Given the description of an element on the screen output the (x, y) to click on. 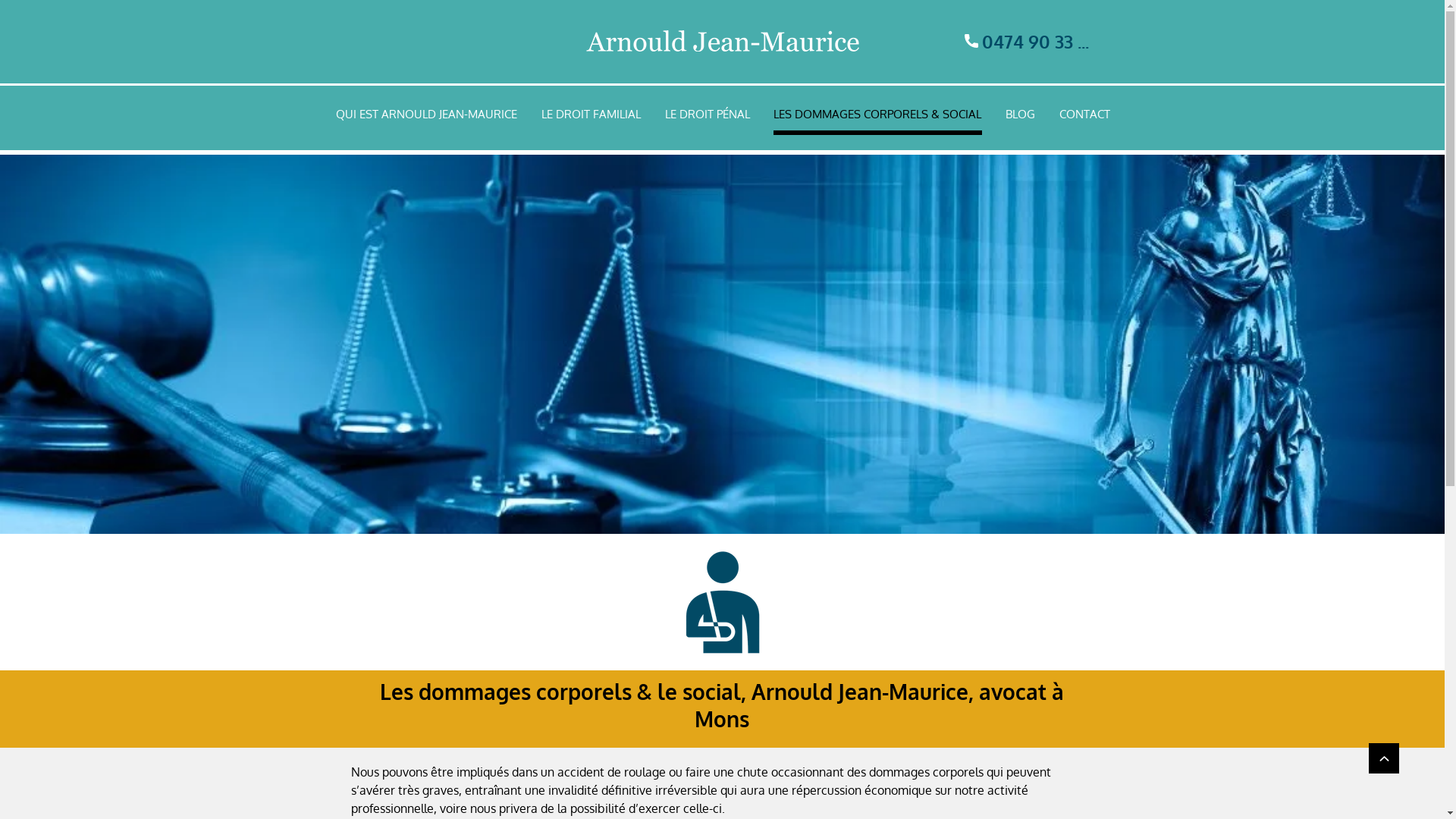
LES DOMMAGES CORPORELS & SOCIAL Element type: text (877, 115)
CONTACT Element type: text (1084, 115)
QUI EST ARNOULD JEAN-MAURICE Element type: text (426, 115)
0474 90 33 37 Element type: text (1029, 40)
BLOG Element type: text (1019, 115)
LE DROIT FAMILIAL Element type: text (590, 115)
